Given the description of an element on the screen output the (x, y) to click on. 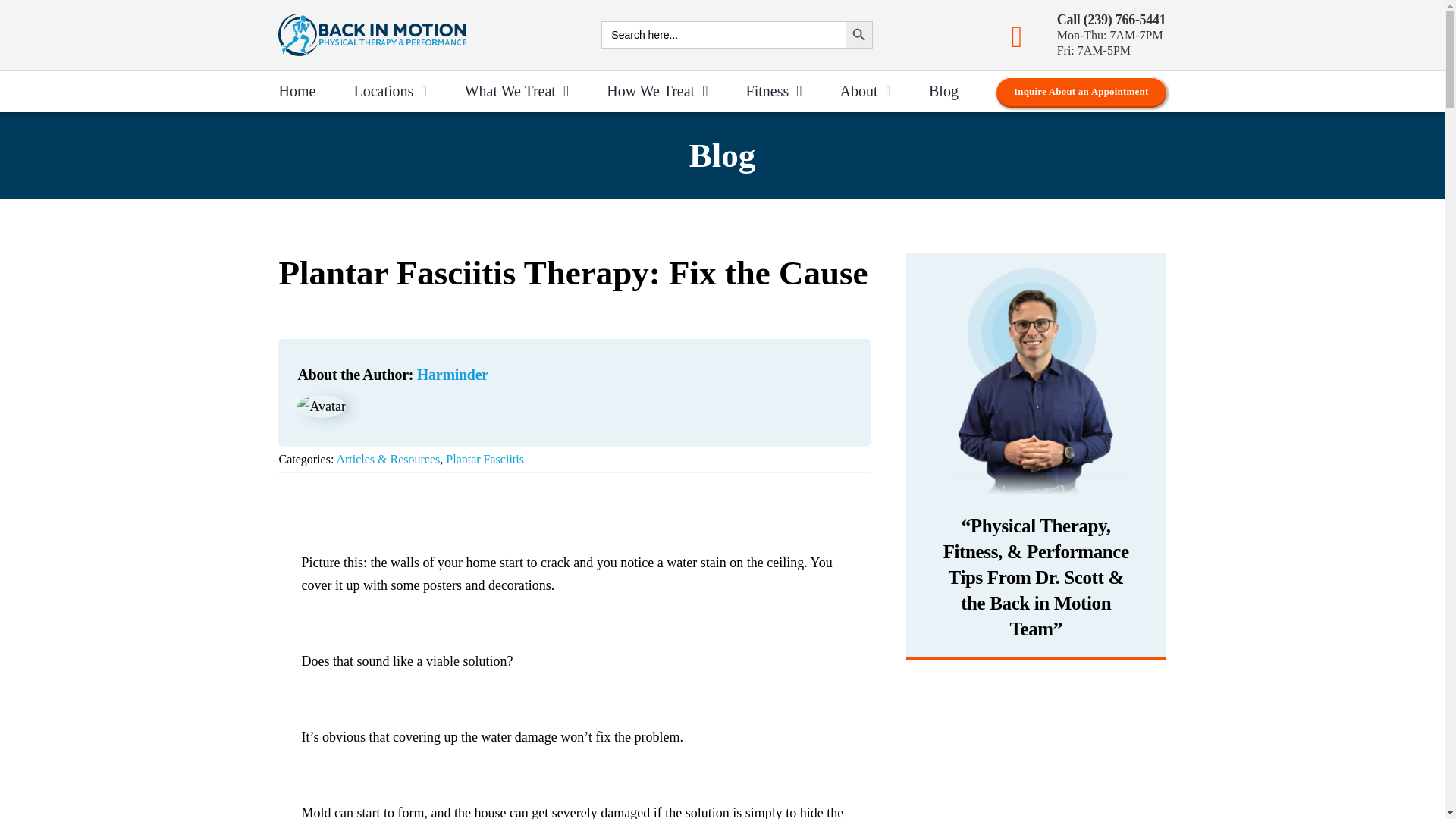
Search Button (858, 34)
Home (296, 91)
How We Treat (657, 91)
Locations (389, 91)
What We Treat (516, 91)
